Given the description of an element on the screen output the (x, y) to click on. 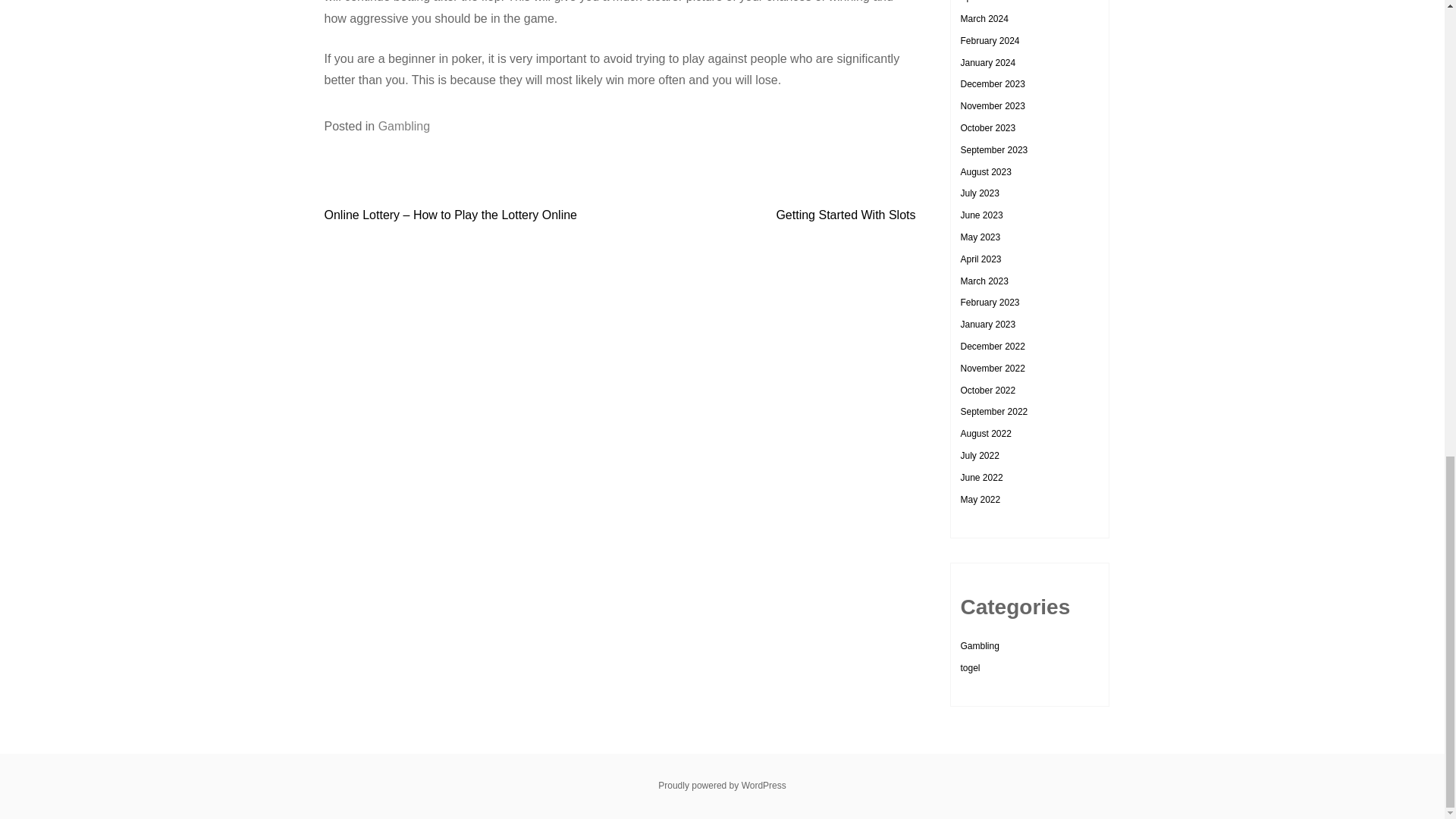
May 2023 (979, 236)
Getting Started With Slots (845, 214)
November 2023 (992, 105)
December 2023 (992, 83)
Gambling (403, 125)
December 2022 (992, 346)
January 2023 (986, 324)
January 2024 (986, 62)
April 2023 (980, 258)
February 2023 (989, 302)
February 2024 (989, 40)
March 2023 (983, 281)
March 2024 (983, 18)
June 2023 (981, 214)
July 2023 (978, 193)
